Given the description of an element on the screen output the (x, y) to click on. 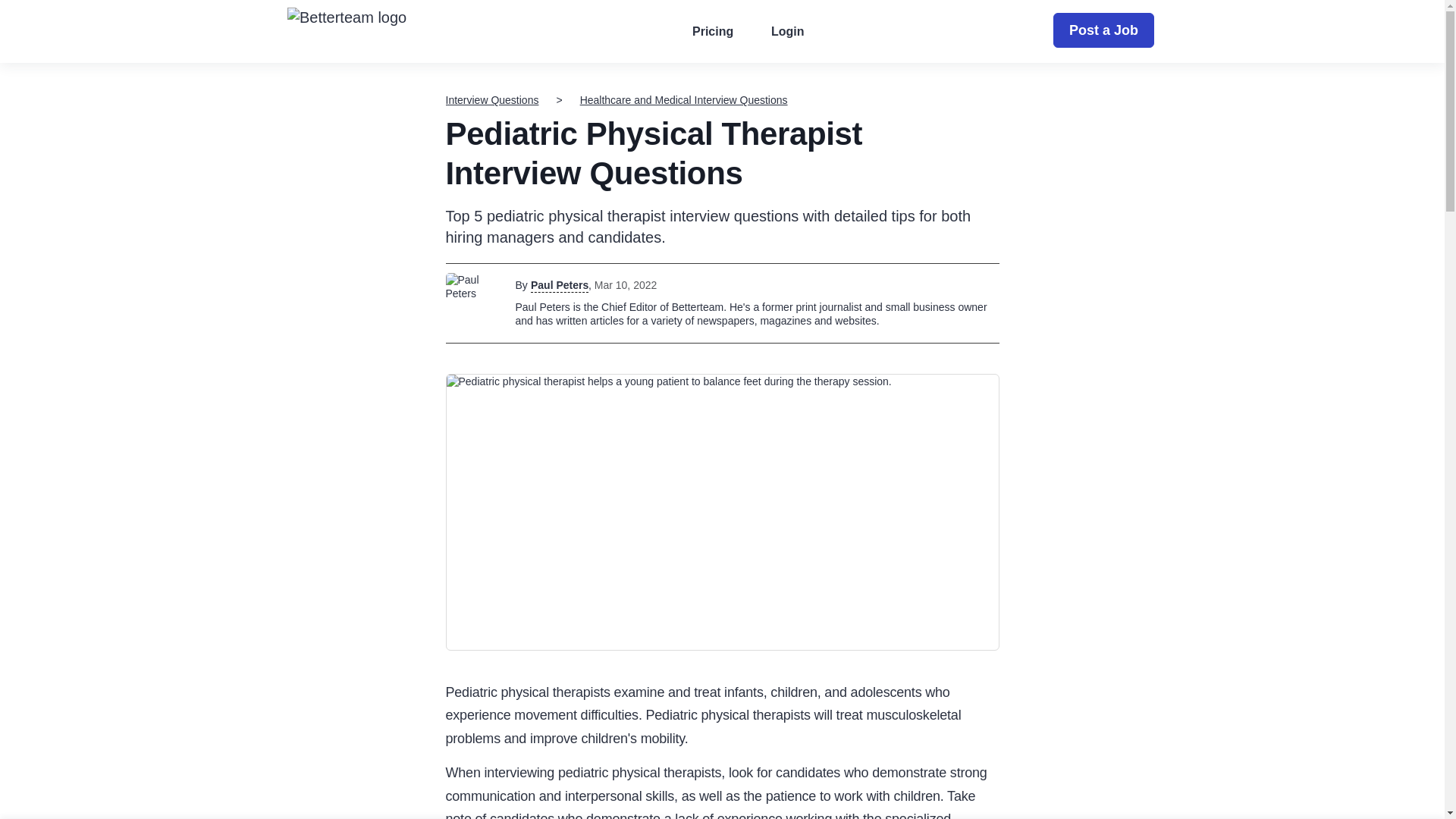
Interview Questions (491, 100)
Post a Job (1103, 30)
Pricing (712, 31)
Healthcare and Medical Interview Questions (683, 100)
Paul Peters (559, 285)
Login (787, 31)
